Given the description of an element on the screen output the (x, y) to click on. 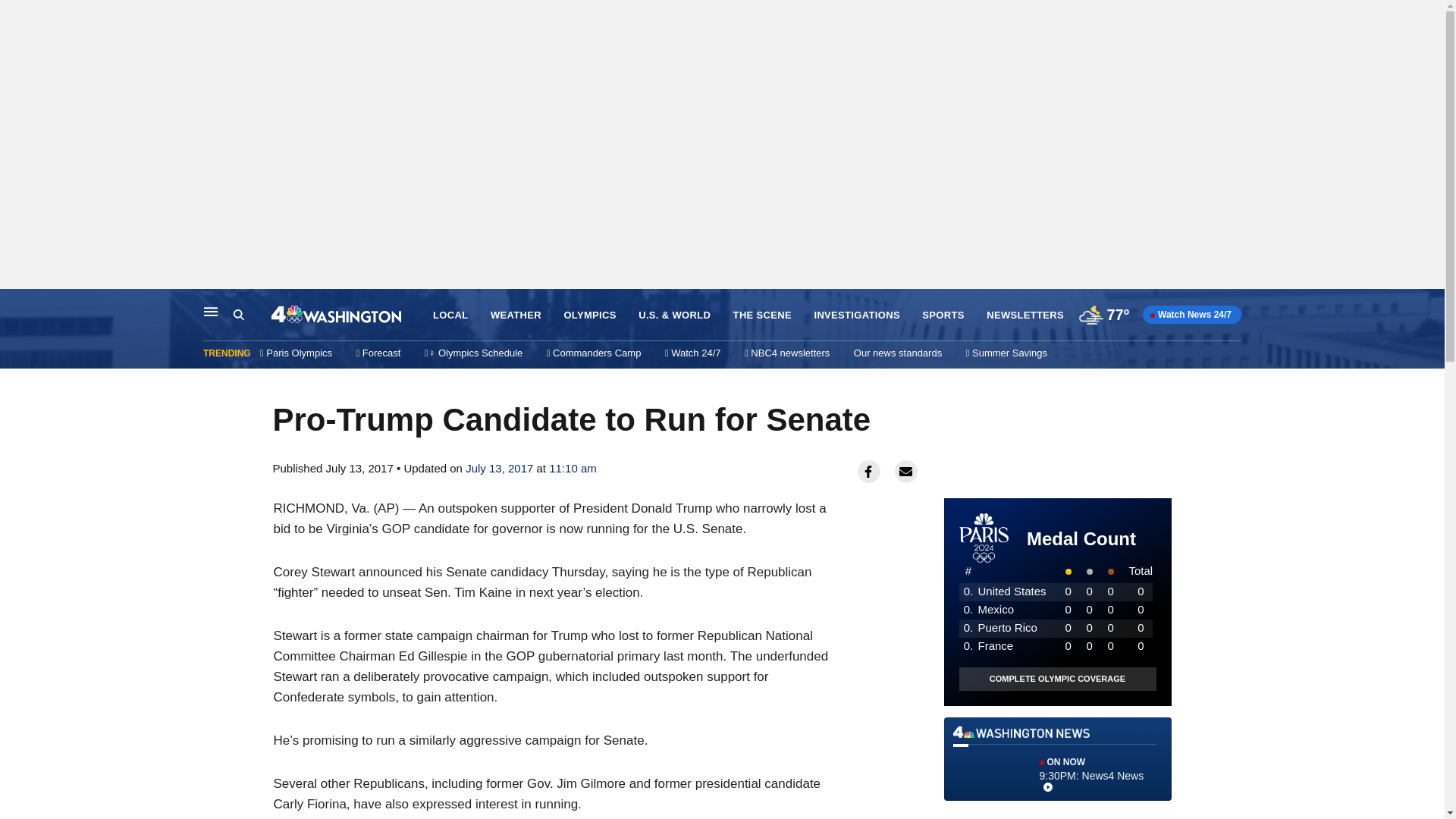
Main Navigation (210, 311)
Our news standards (897, 352)
INVESTIGATIONS (856, 315)
THE SCENE (762, 315)
COMPLETE OLYMPIC COVERAGE (1057, 679)
Search (238, 314)
OLYMPICS (1056, 758)
SPORTS (589, 315)
LOCAL (942, 315)
Search (449, 315)
NEWSLETTERS (252, 314)
WEATHER (1025, 315)
Skip to content (515, 315)
